Given the description of an element on the screen output the (x, y) to click on. 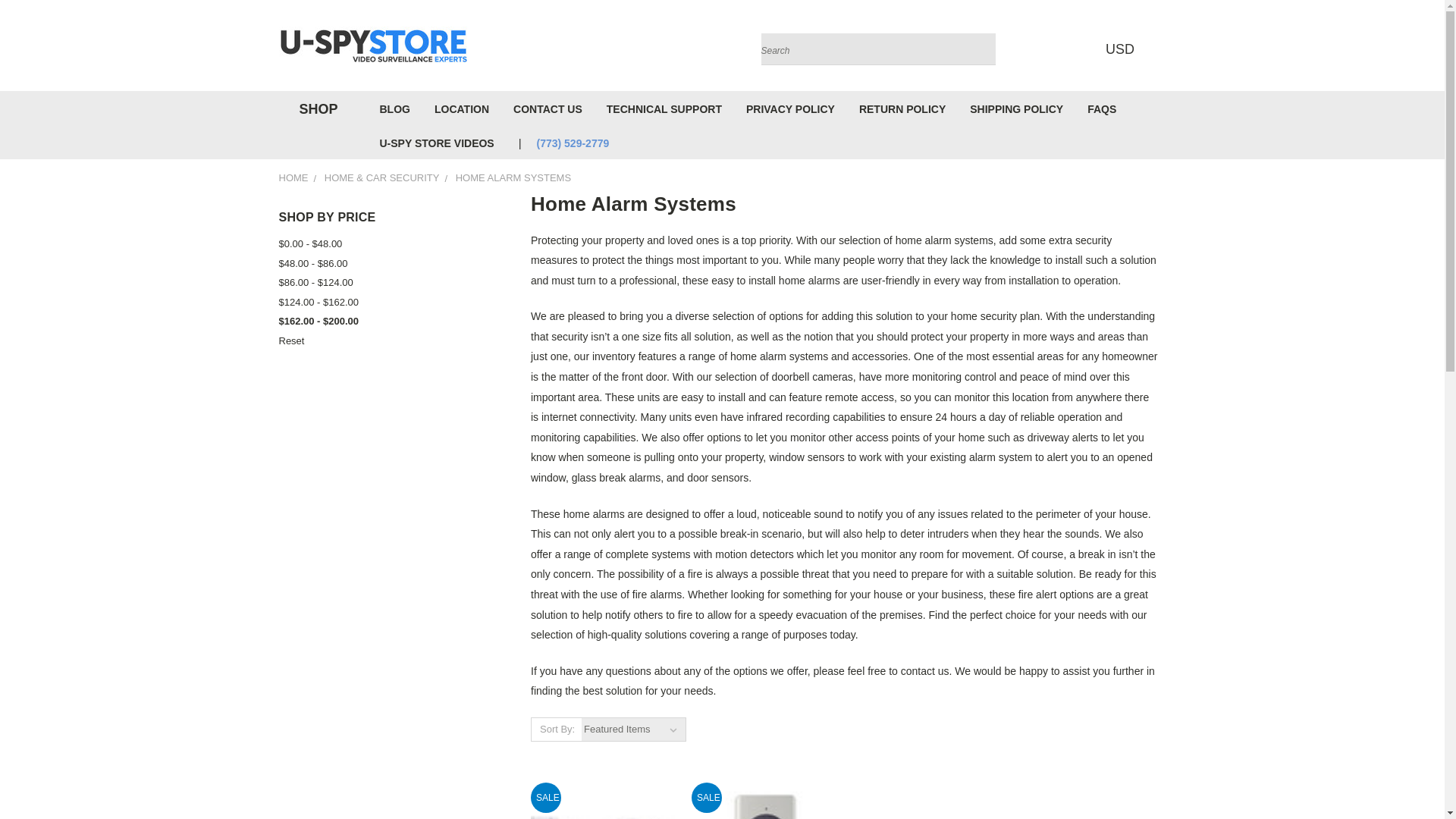
submit (980, 48)
SHOP (314, 109)
WiFi Video Doorbell Camera (763, 798)
USD (1123, 49)
U-Spy Store (373, 45)
UNIDEN AppHome Wireless Security System (603, 810)
